Given the description of an element on the screen output the (x, y) to click on. 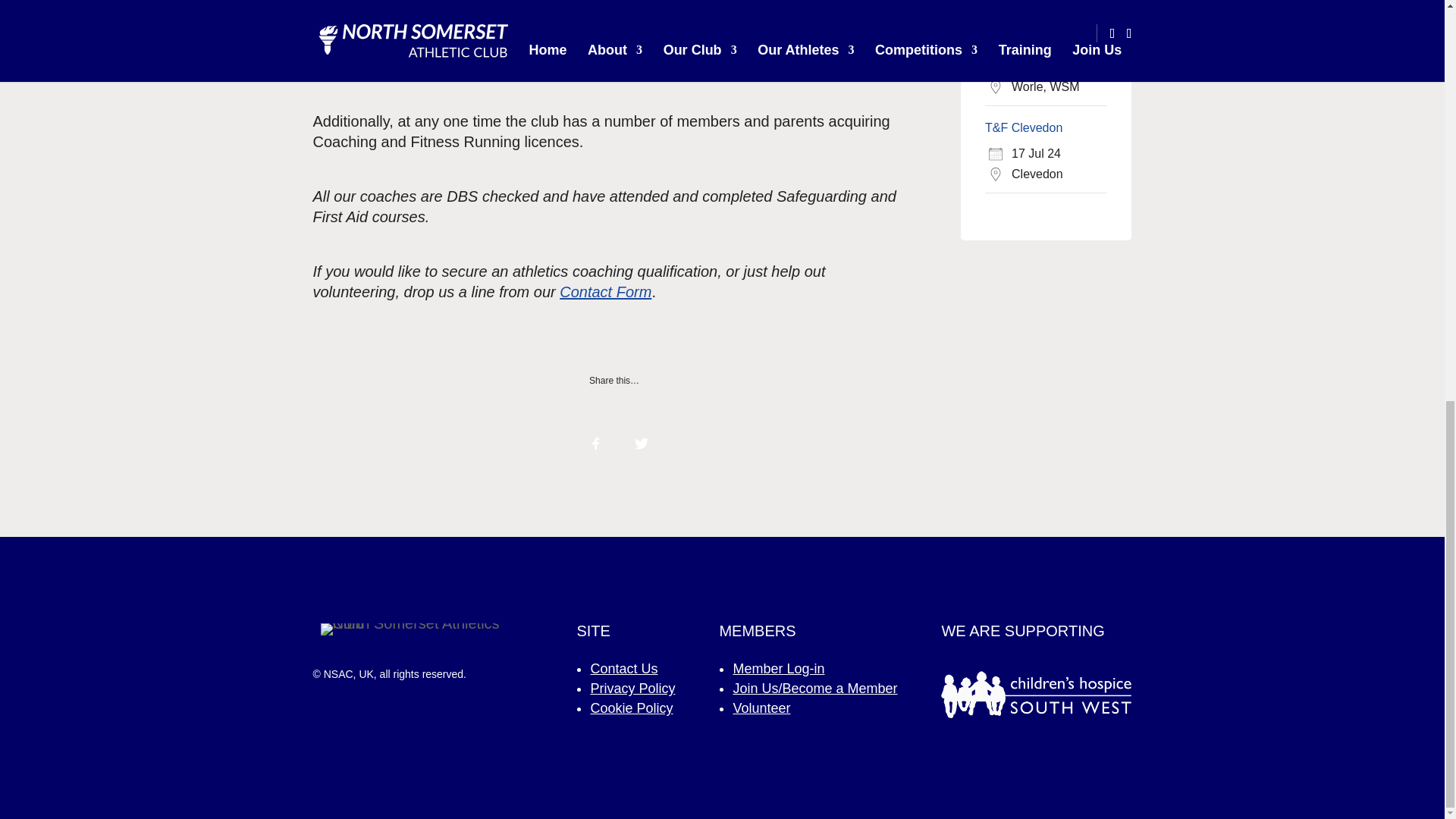
logo-v2 (422, 629)
